Given the description of an element on the screen output the (x, y) to click on. 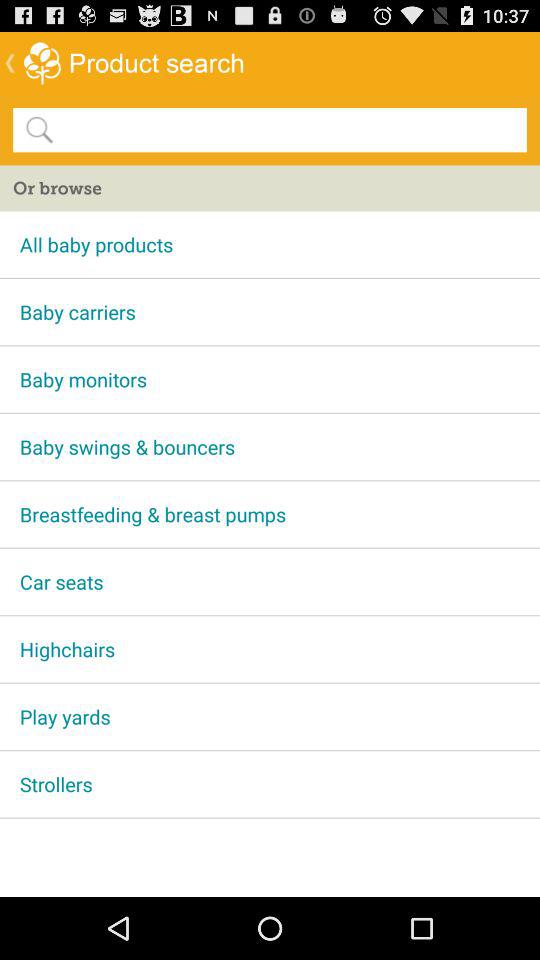
tap the car seats (270, 581)
